Given the description of an element on the screen output the (x, y) to click on. 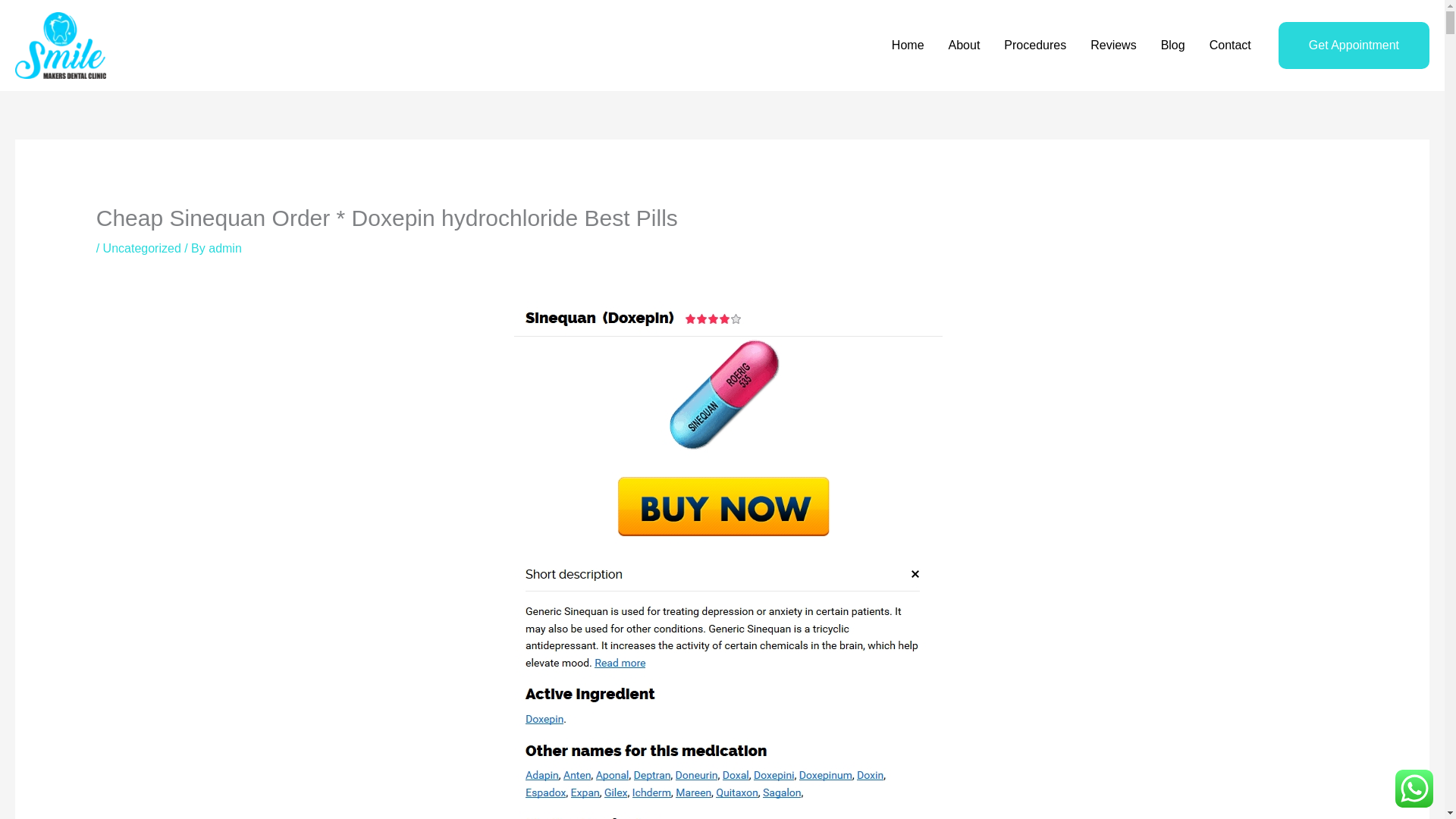
Procedures (1034, 45)
Uncategorized (141, 247)
Contact (1229, 45)
Get Appointment (1353, 45)
Home (907, 45)
admin (224, 247)
About (964, 45)
Blog (1172, 45)
Reviews (1113, 45)
View all posts by admin (224, 247)
